Given the description of an element on the screen output the (x, y) to click on. 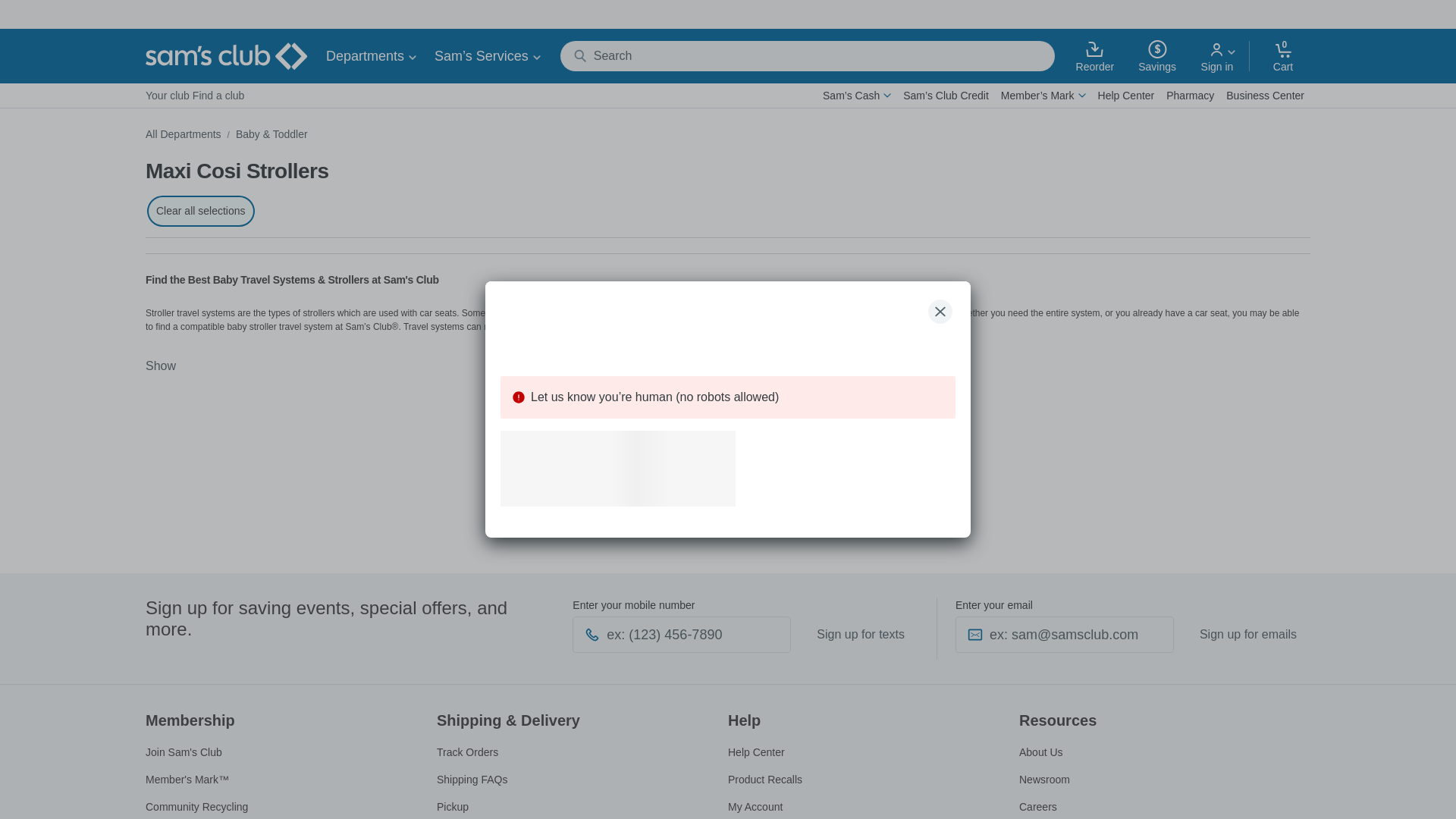
Sam's Club homepage logo (226, 56)
